Given the description of an element on the screen output the (x, y) to click on. 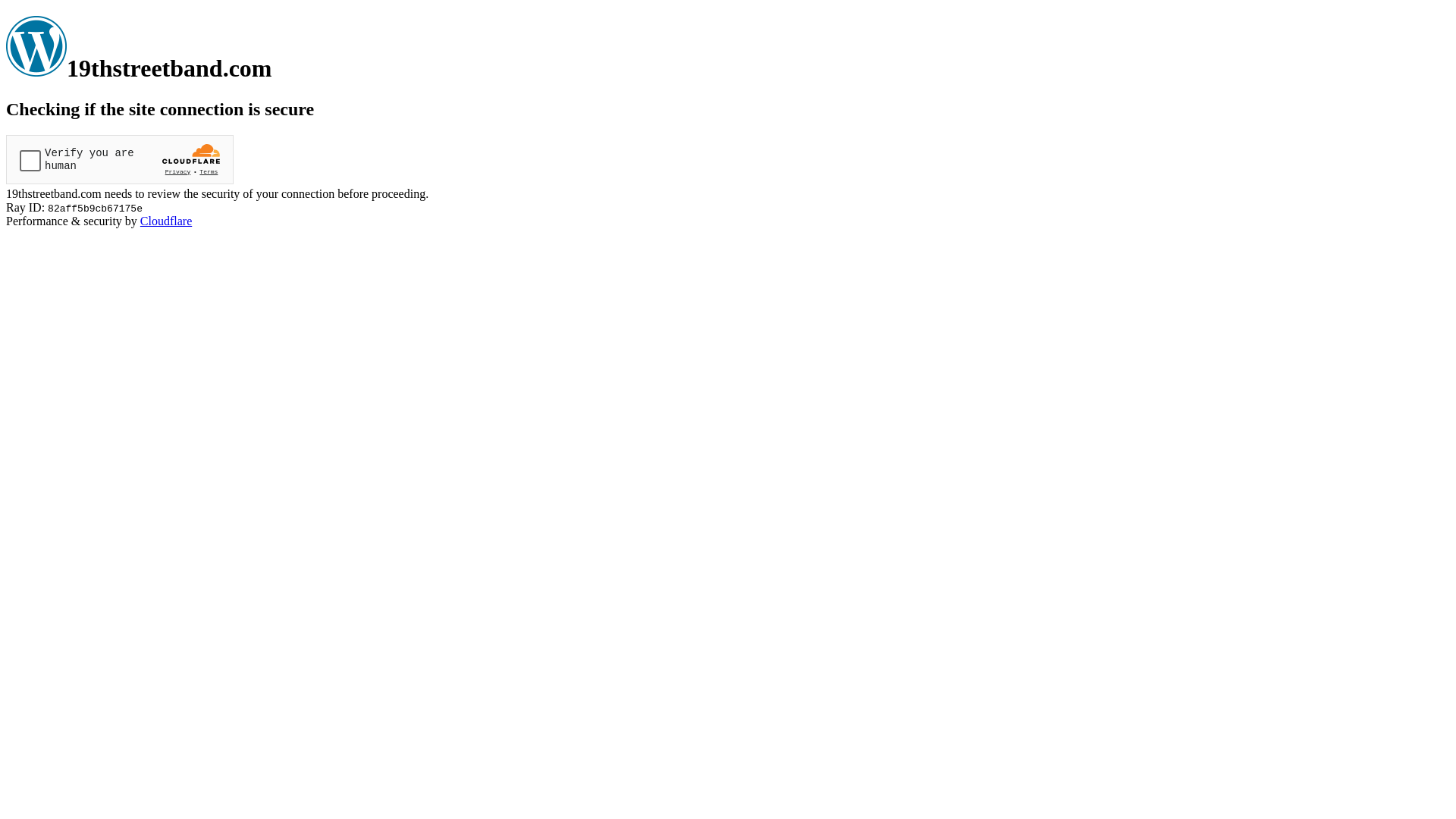
Widget containing a Cloudflare security challenge Element type: hover (119, 159)
Cloudflare Element type: text (165, 220)
